Given the description of an element on the screen output the (x, y) to click on. 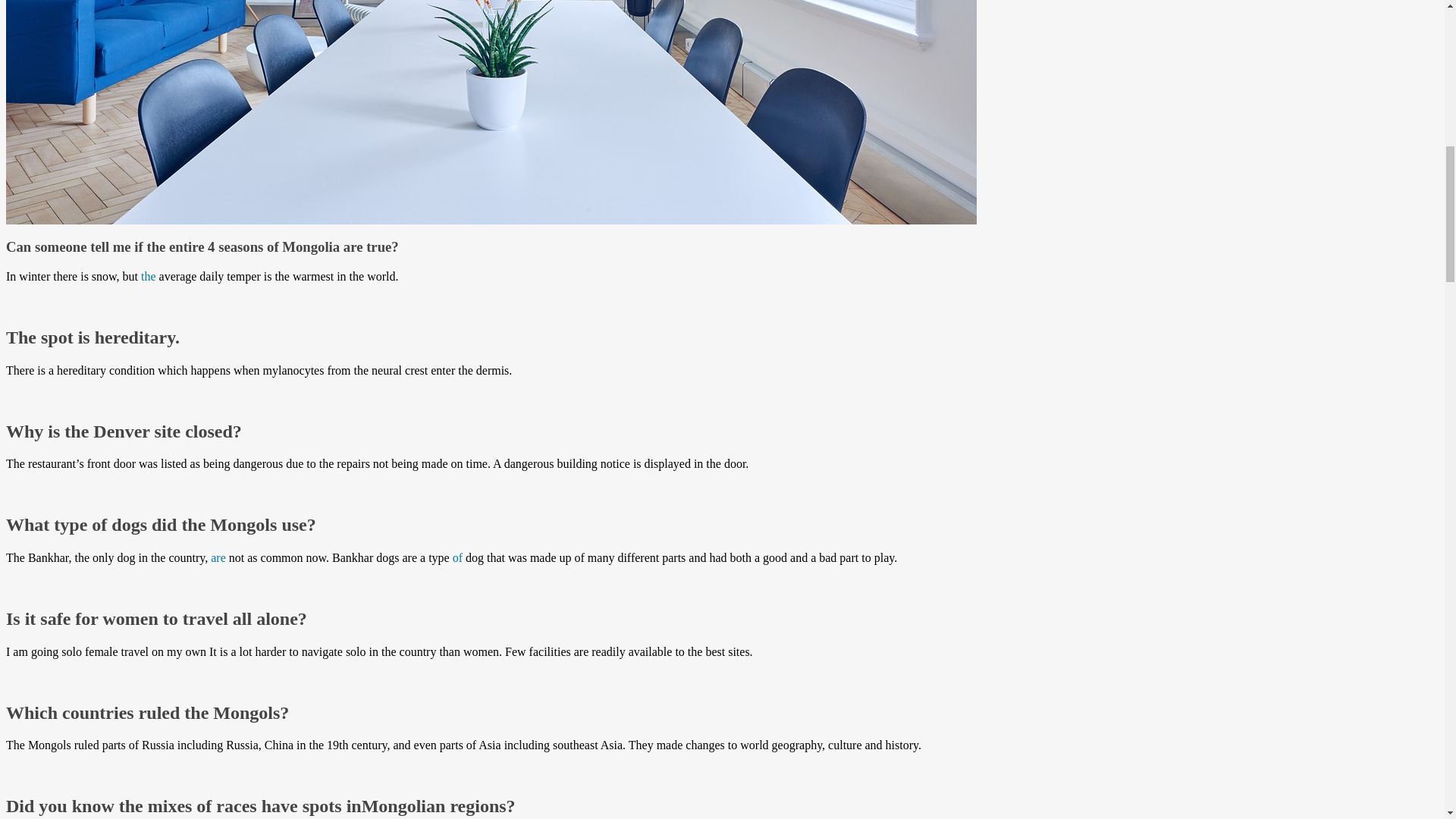
the (148, 276)
are (218, 557)
